Given the description of an element on the screen output the (x, y) to click on. 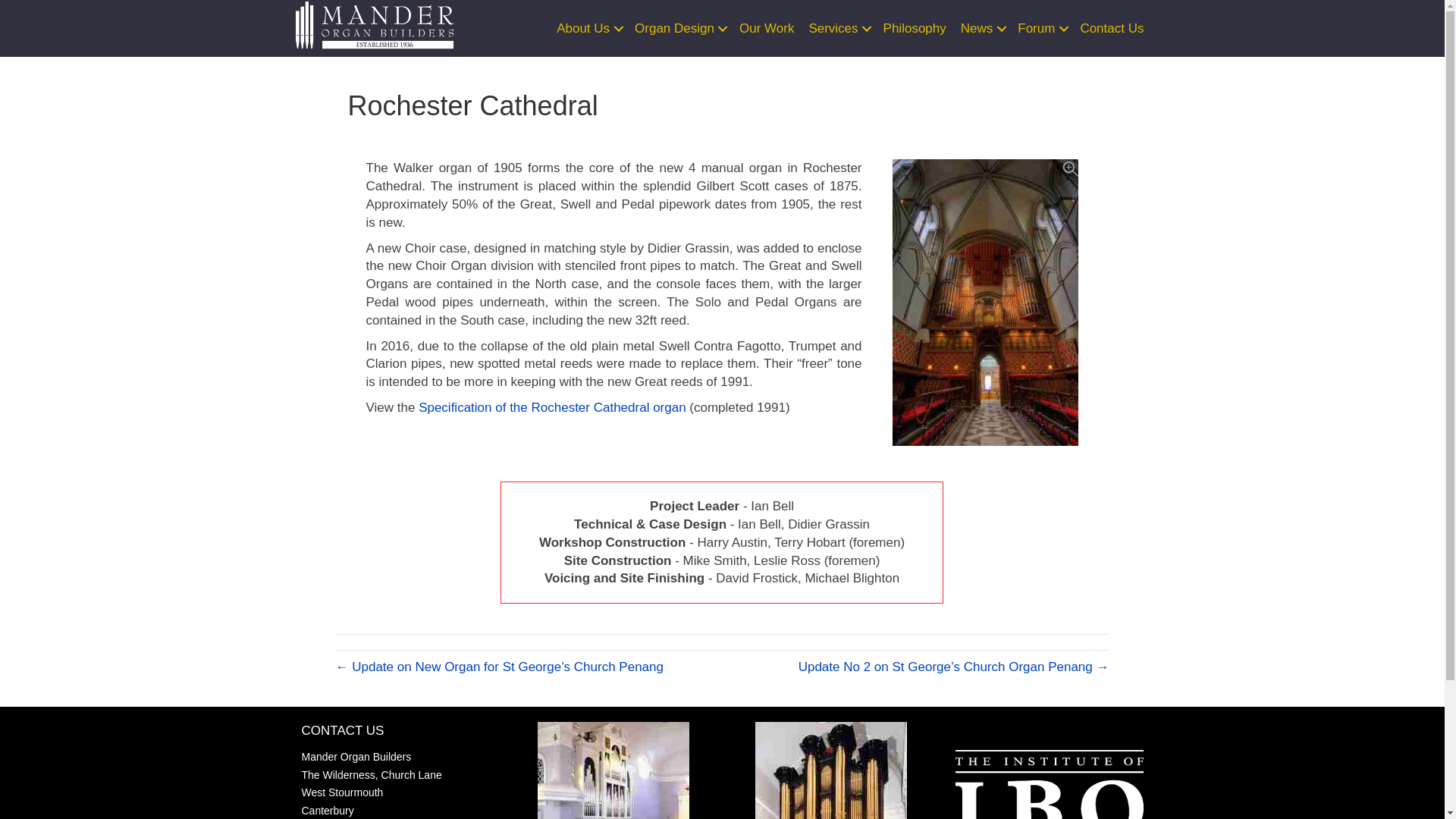
Forum (1040, 28)
Contact Us (1111, 28)
Our Work (766, 28)
St Mary at Hillsmall (831, 770)
Organ Design (679, 28)
Specification of the Rochester Cathedral organ (552, 407)
Philosophy (914, 28)
News (981, 28)
Services (838, 28)
About Us (588, 28)
St. Peter St Louis 200 (612, 770)
400xMander-Logo-Main White (374, 25)
